Given the description of an element on the screen output the (x, y) to click on. 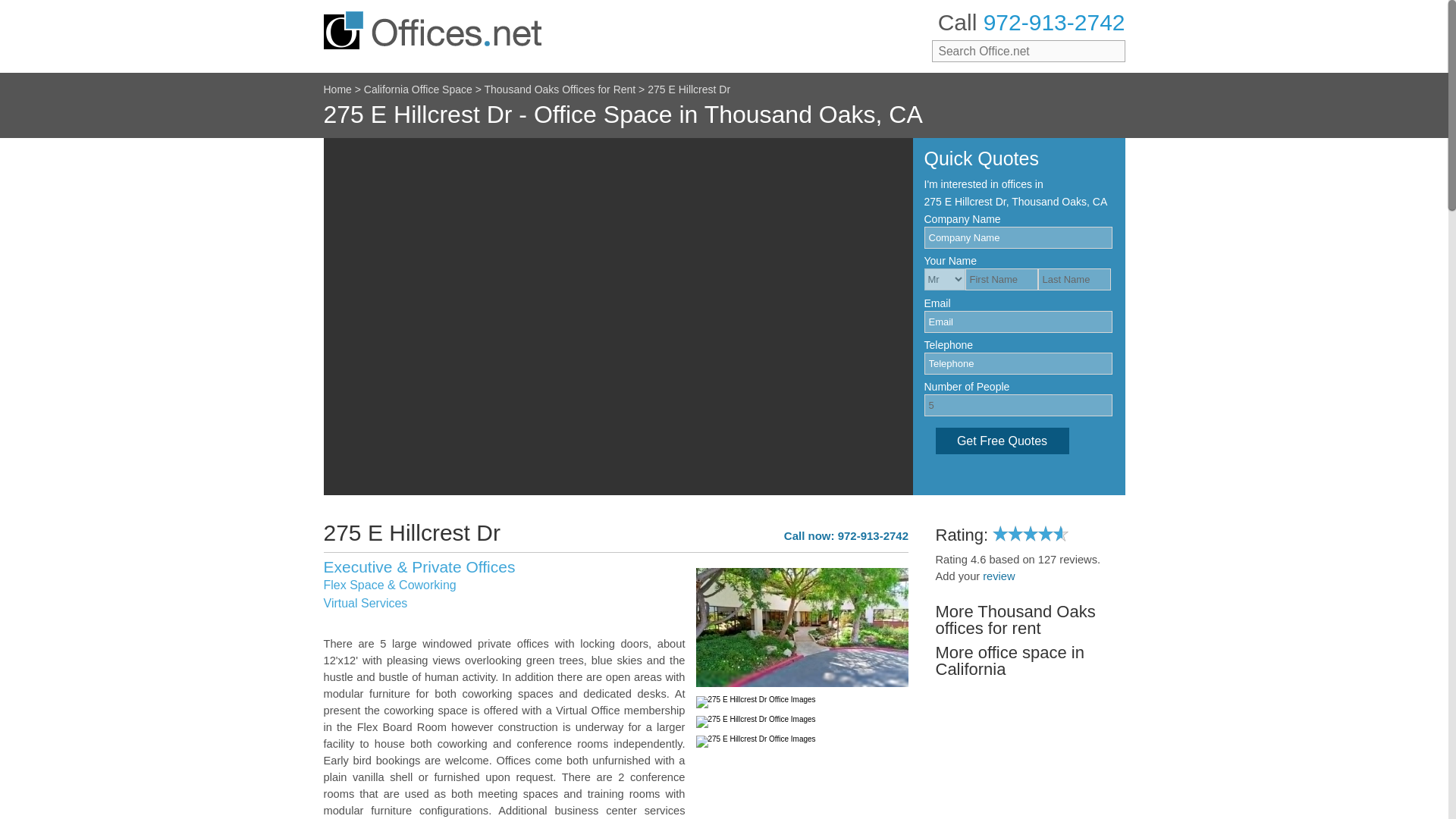
California Office Space (417, 89)
Home (336, 89)
review (998, 576)
Thousand Oaks Offices for Rent (558, 89)
5 (1017, 404)
Get Free Quotes (1002, 440)
